Given the description of an element on the screen output the (x, y) to click on. 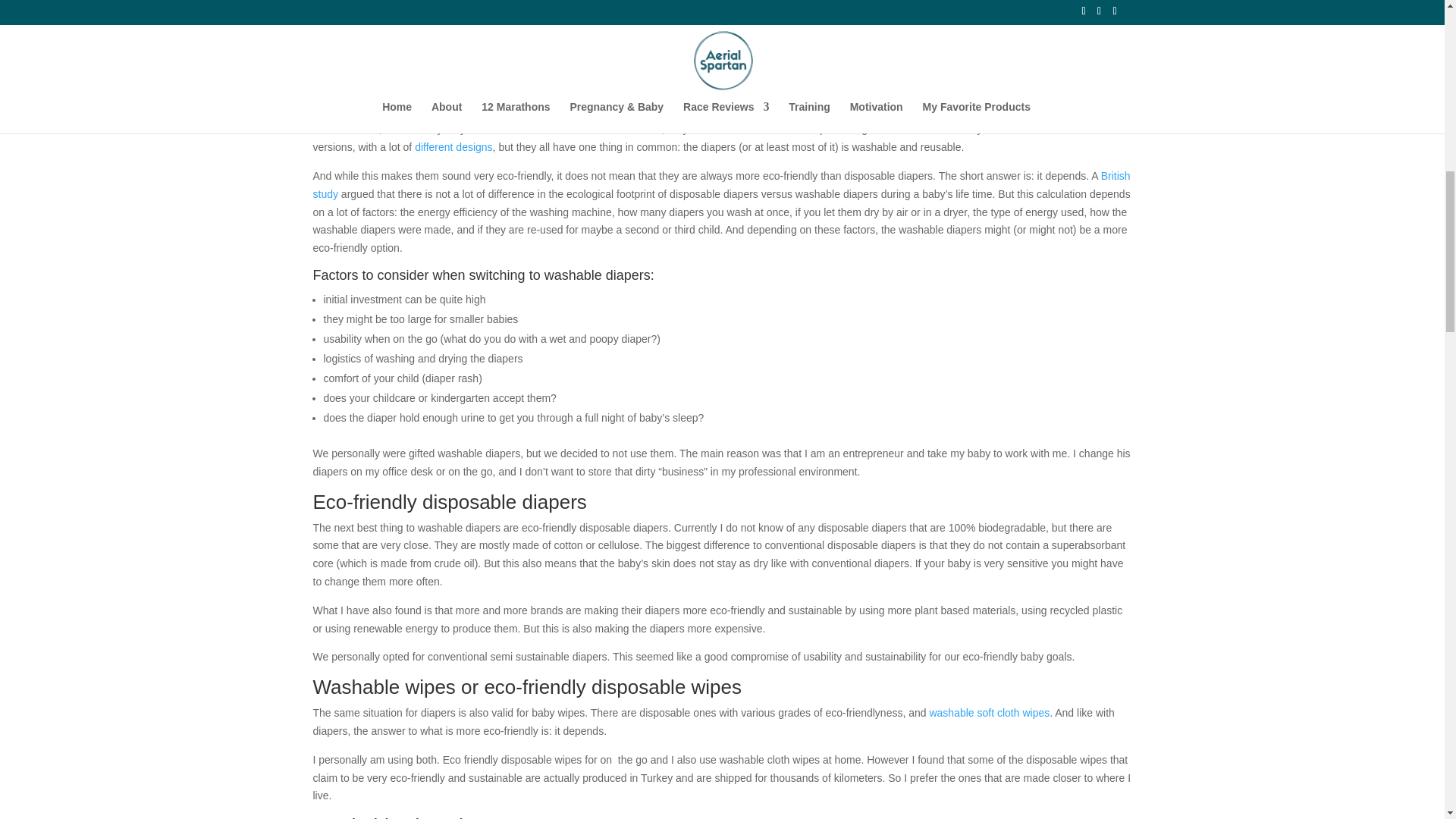
different designs (453, 146)
washable cloth diapers (730, 111)
washable soft cloth wipes (988, 712)
British study (721, 184)
